Given the description of an element on the screen output the (x, y) to click on. 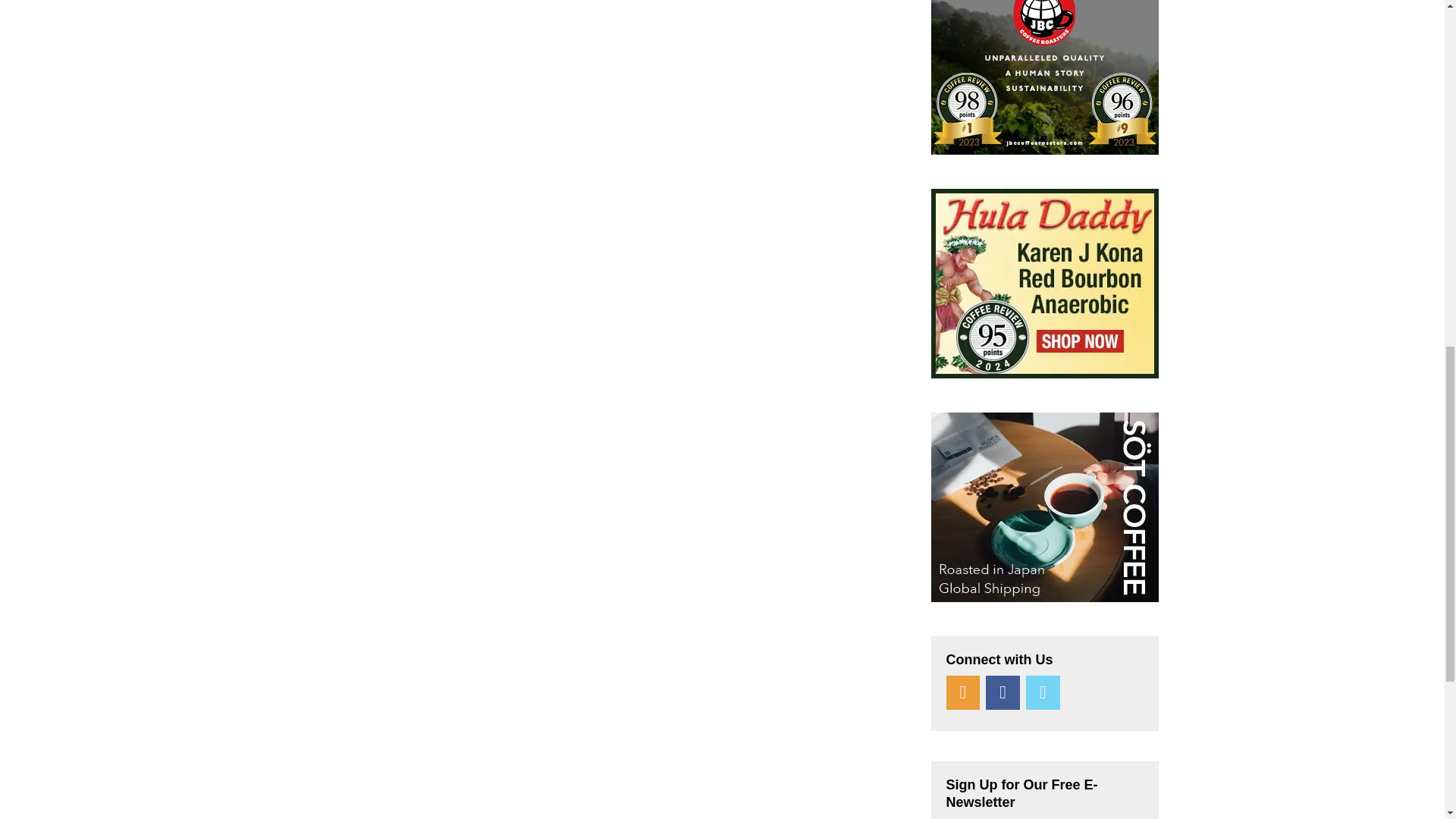
Facebook (1002, 692)
RSS (962, 692)
Twitter (1042, 692)
